Given the description of an element on the screen output the (x, y) to click on. 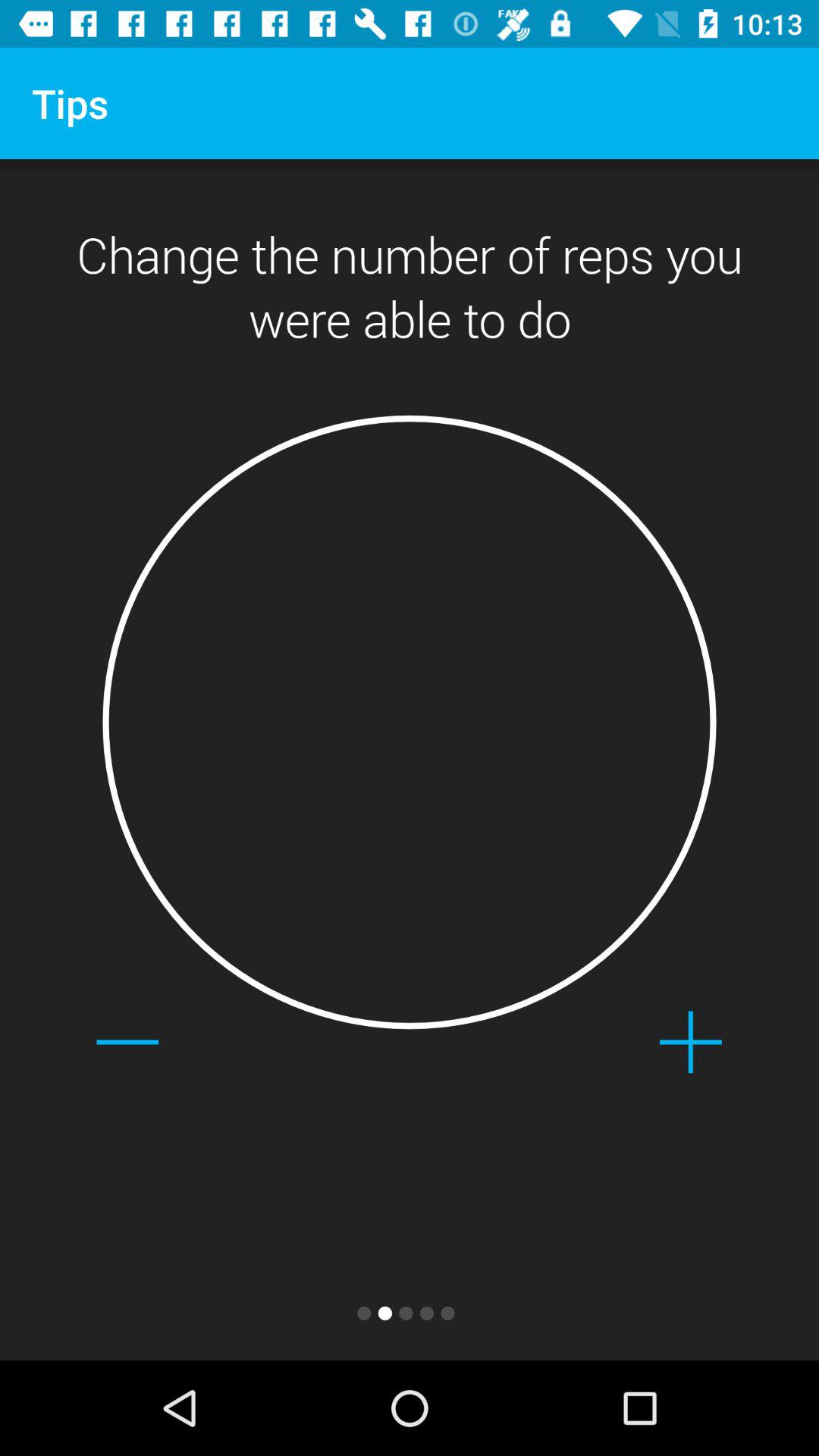
tap icon below change the number item (690, 1042)
